Given the description of an element on the screen output the (x, y) to click on. 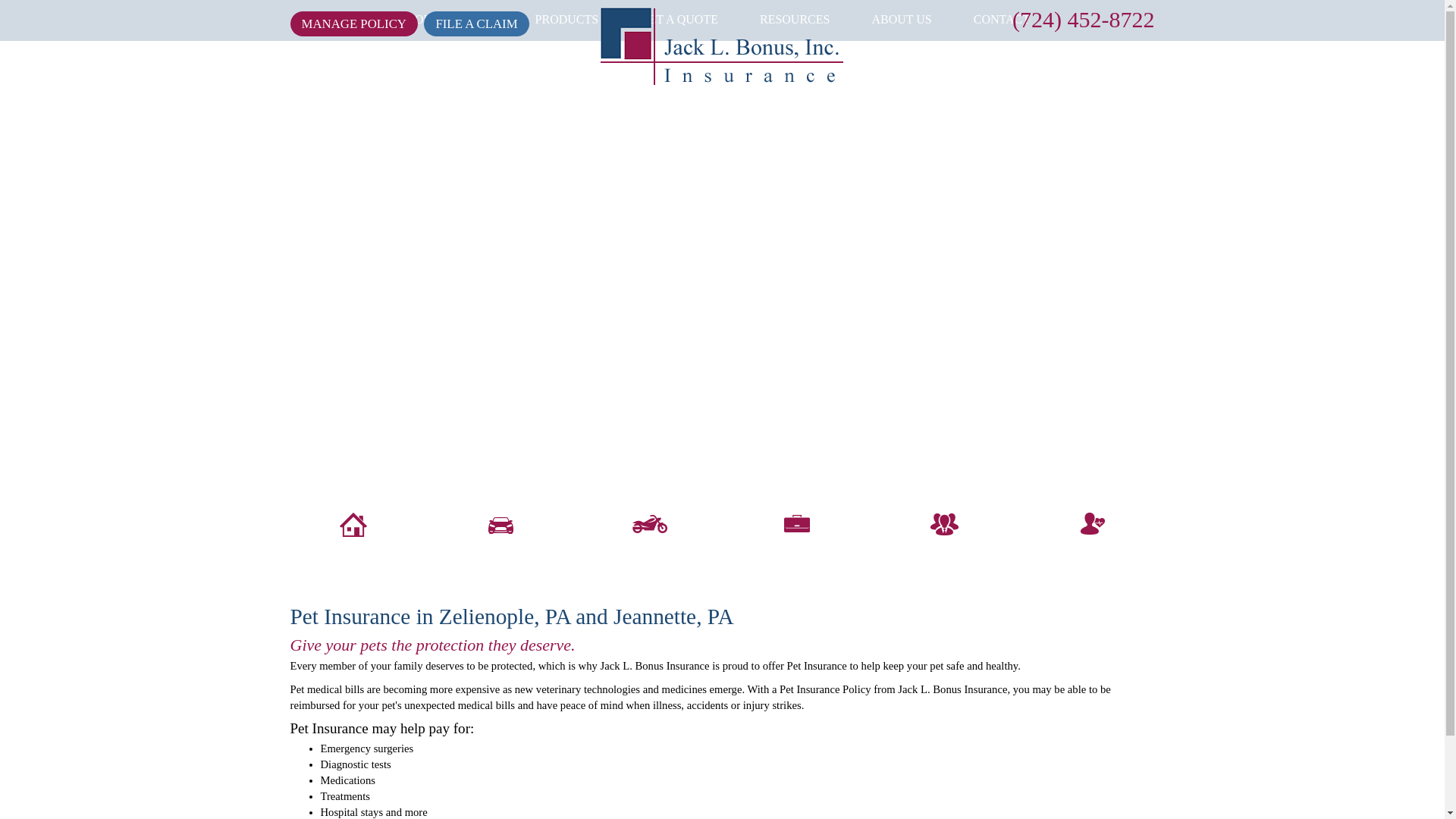
OUR AGENCY (454, 18)
MANAGE POLICY (352, 23)
FILE A CLAIM (475, 23)
